Given the description of an element on the screen output the (x, y) to click on. 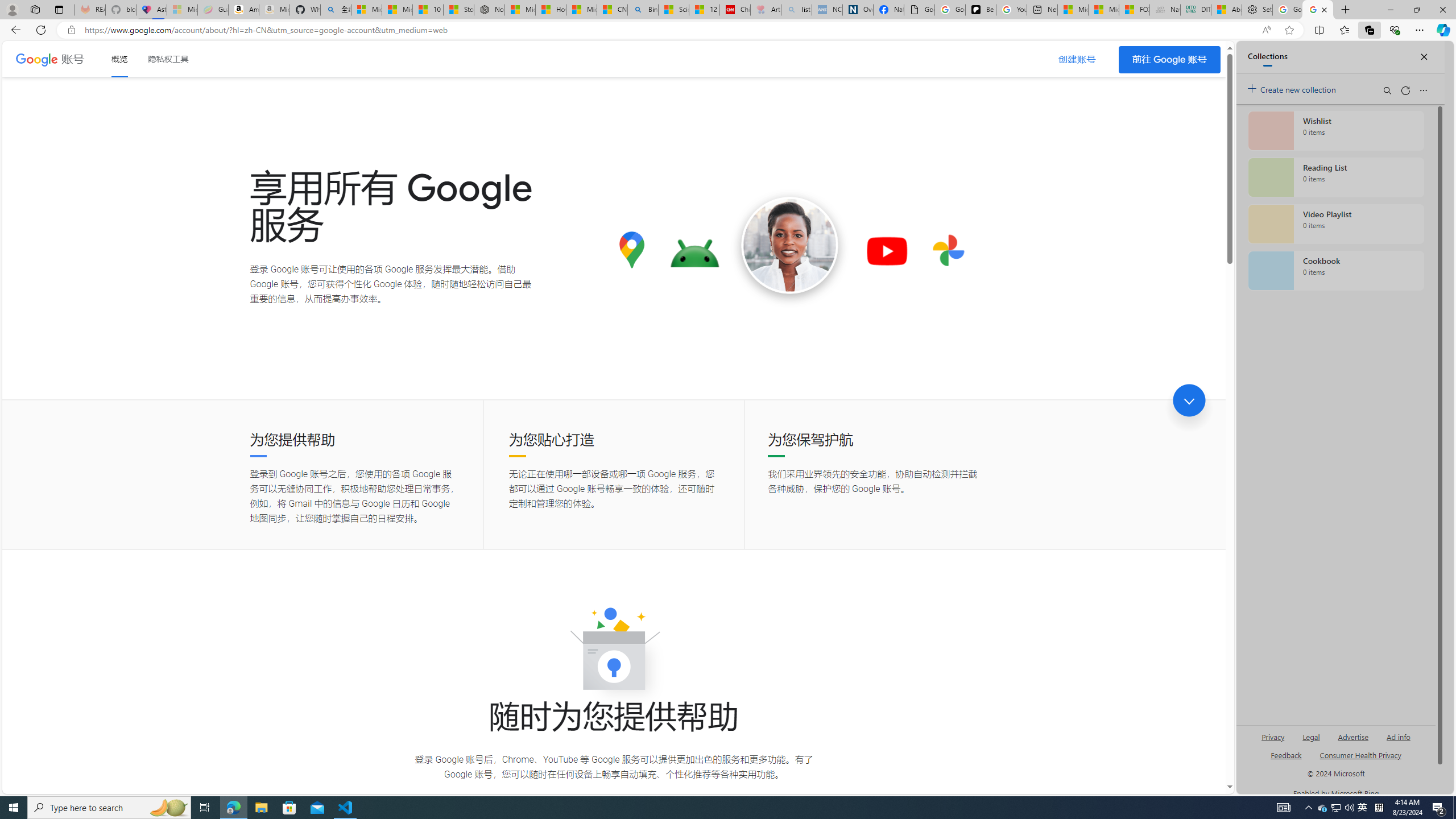
Nordace - Nordace Siena Is Not An Ordinary Backpack (488, 9)
How I Got Rid of Microsoft Edge's Unnecessary Features (549, 9)
Aberdeen, Hong Kong SAR hourly forecast | Microsoft Weather (1226, 9)
AutomationID: sb_feedback (1286, 754)
